Given the description of an element on the screen output the (x, y) to click on. 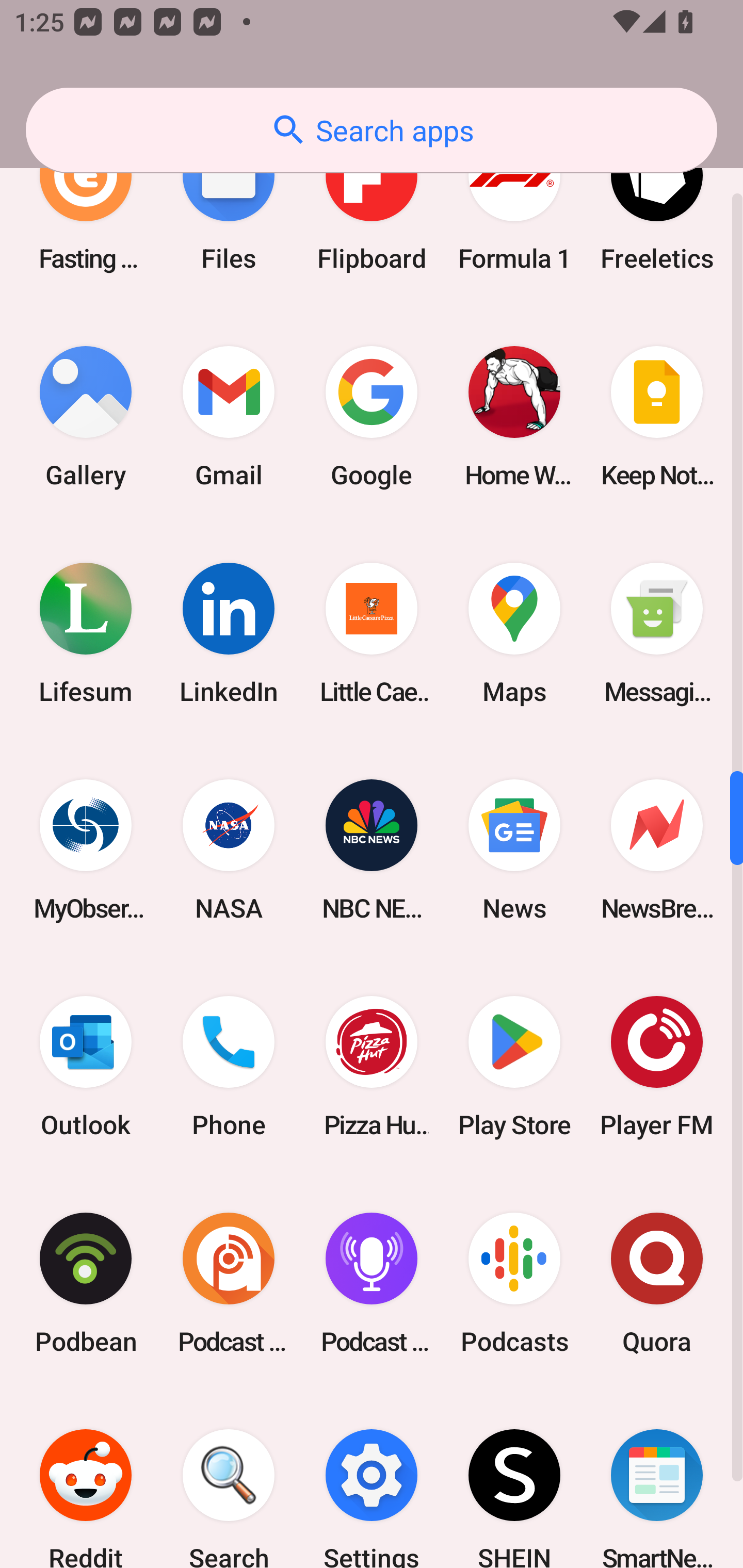
  Search apps (371, 130)
Fasting Coach (85, 205)
Files (228, 205)
Flipboard (371, 205)
Formula 1 (514, 205)
Freeletics (656, 205)
Gallery (85, 416)
Gmail (228, 416)
Google (371, 416)
Home Workout (514, 416)
Keep Notes (656, 416)
Lifesum (85, 633)
LinkedIn (228, 633)
Little Caesars Pizza (371, 633)
Maps (514, 633)
Messaging (656, 633)
MyObservatory (85, 849)
NASA (228, 849)
NBC NEWS (371, 849)
News (514, 849)
NewsBreak (656, 849)
Outlook (85, 1066)
Phone (228, 1066)
Pizza Hut HK & Macau (371, 1066)
Play Store (514, 1066)
Player FM (656, 1066)
Podbean (85, 1283)
Podcast Addict (228, 1283)
Podcast Player (371, 1283)
Podcasts (514, 1283)
Quora (656, 1283)
Reddit (85, 1480)
Search (228, 1480)
Settings (371, 1480)
SHEIN (514, 1480)
SmartNews (656, 1480)
